Given the description of an element on the screen output the (x, y) to click on. 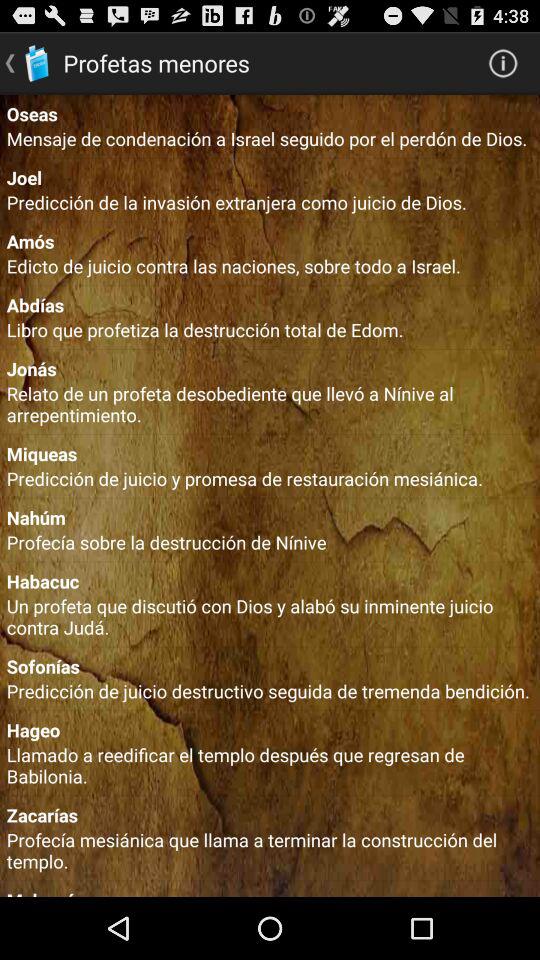
open app above the un profeta que (269, 580)
